Given the description of an element on the screen output the (x, y) to click on. 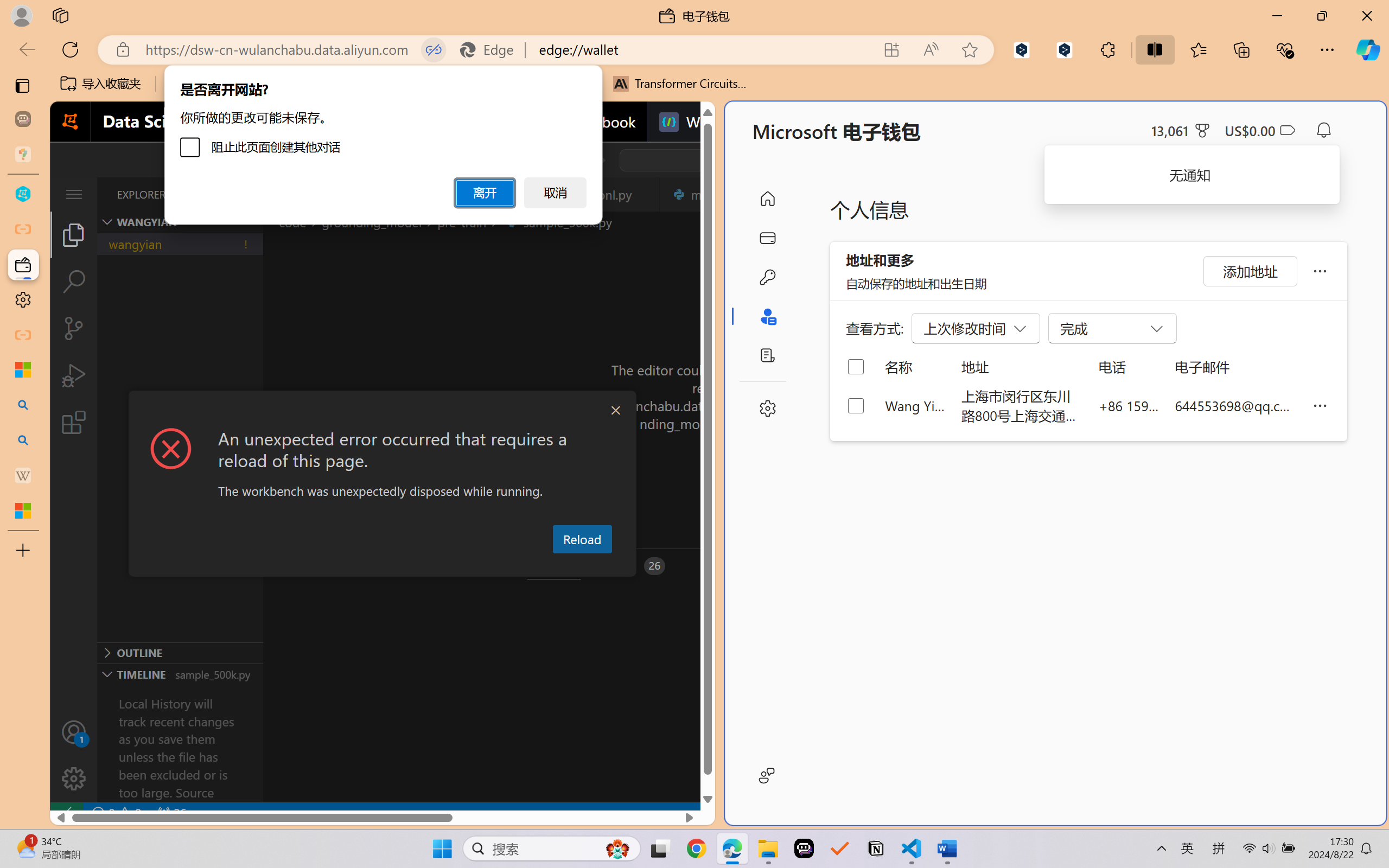
Microsoft Cashback - US$0.00 (1259, 129)
No Problems (115, 812)
